Given the description of an element on the screen output the (x, y) to click on. 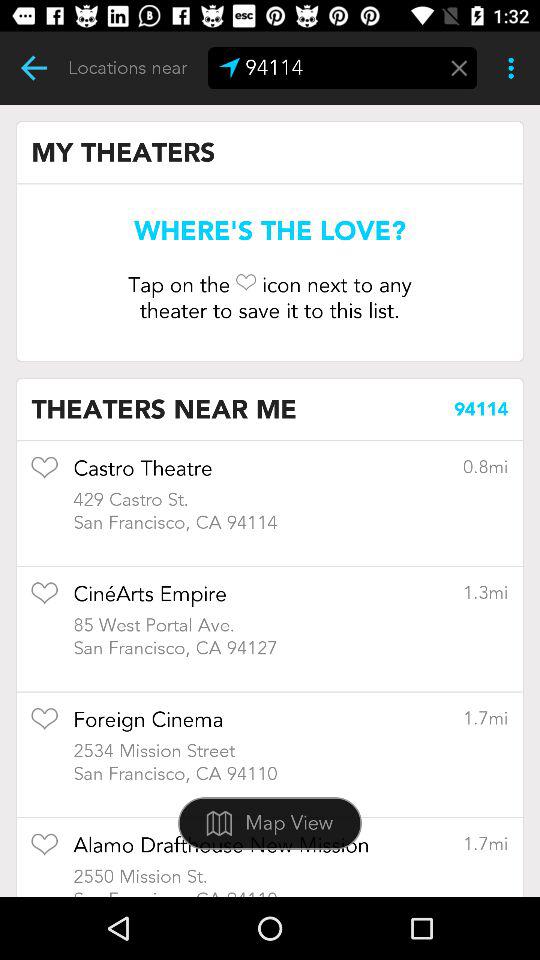
love/ like (44, 474)
